Given the description of an element on the screen output the (x, y) to click on. 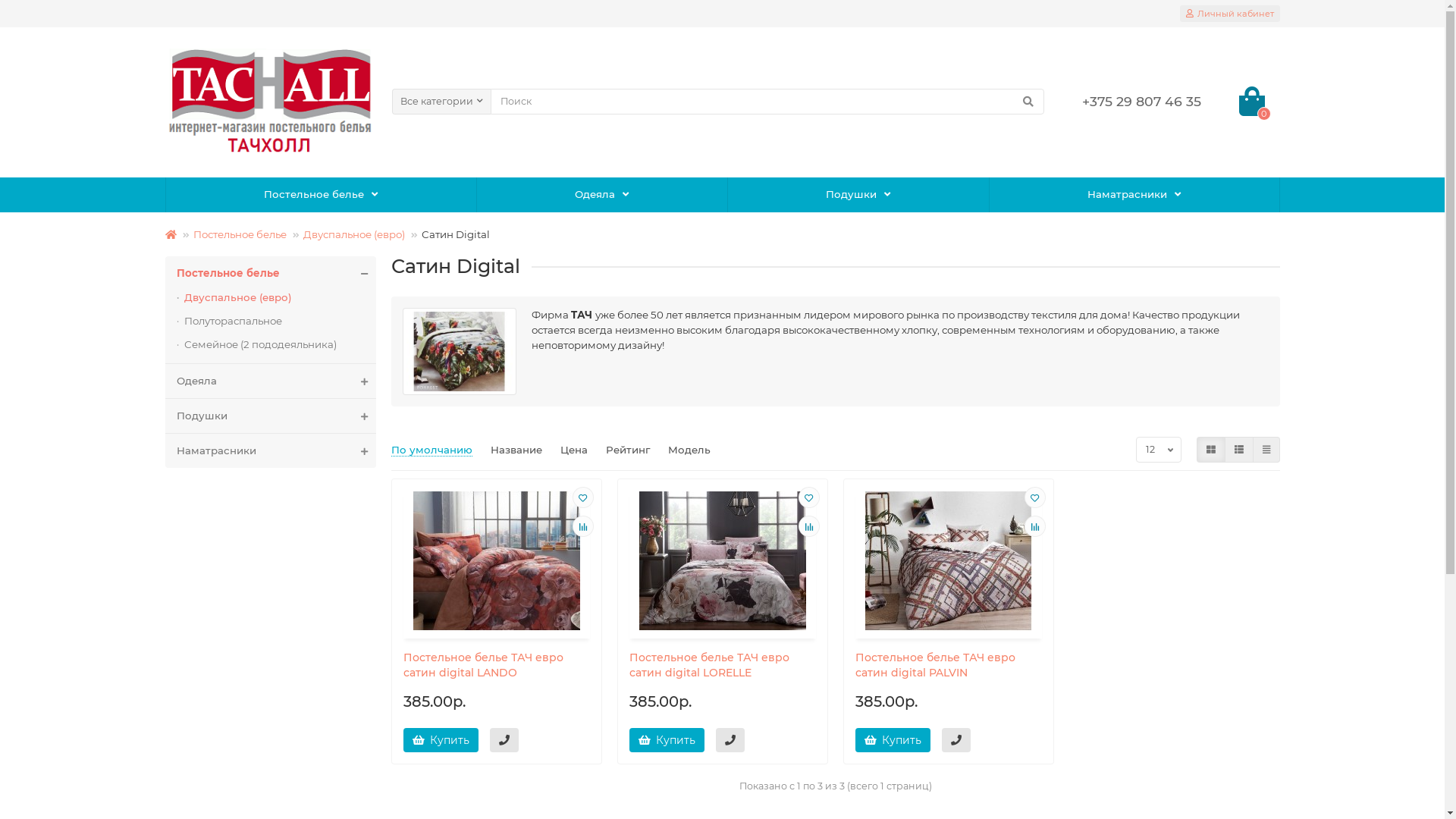
0 Element type: text (1251, 101)
